Given the description of an element on the screen output the (x, y) to click on. 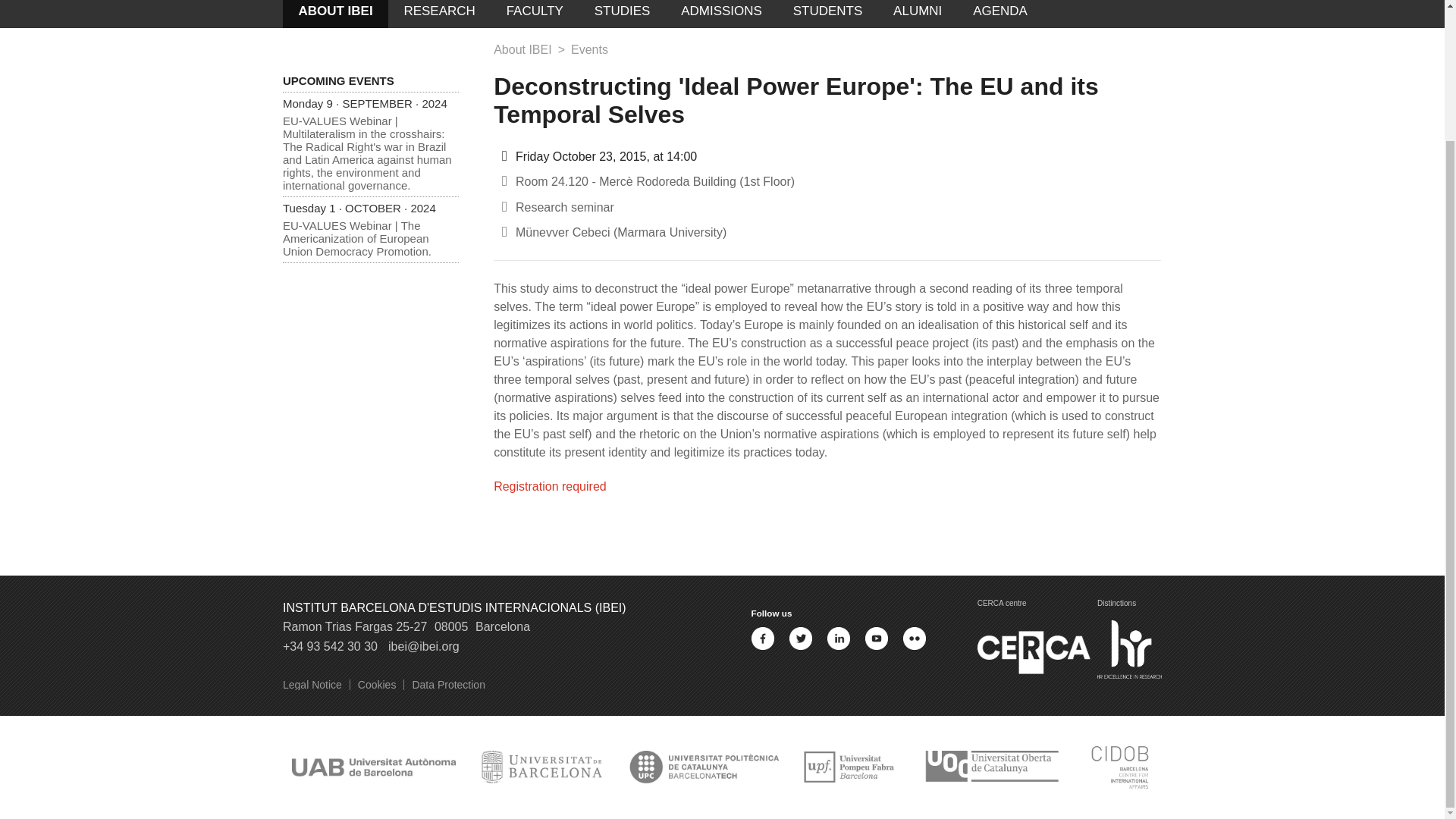
FACULTY (534, 13)
RESEARCH (439, 13)
ABOUT IBEI (335, 13)
